Given the description of an element on the screen output the (x, y) to click on. 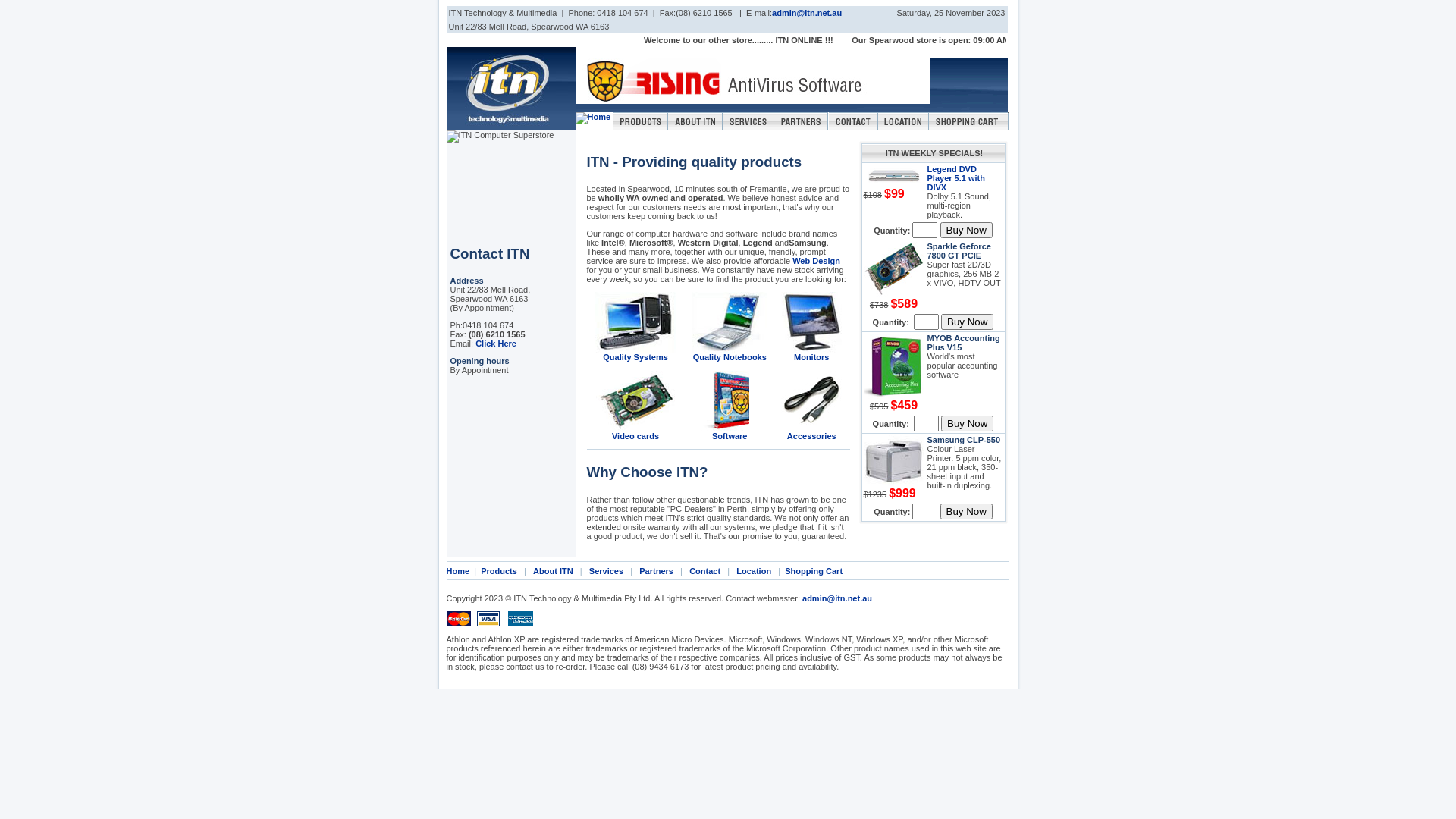
Buy Now Element type: text (967, 423)
Legend DVD Player 5.1 with DIVX Element type: text (955, 177)
Buy Now Element type: text (967, 321)
Accessories Element type: text (811, 405)
Services Element type: text (606, 570)
Video cards Element type: text (635, 405)
Software Element type: text (729, 405)
About ITN Element type: text (553, 570)
Click Here Element type: text (495, 343)
admin@itn.net.au Element type: text (837, 597)
Location Element type: text (753, 570)
Products Element type: text (498, 570)
Quality Systems Element type: text (635, 326)
Monitors Element type: text (811, 326)
admin@itn.net.au Element type: text (806, 12)
Web Design Element type: text (816, 260)
Quality Notebooks Element type: text (729, 326)
Partners Element type: text (656, 570)
Buy Now Element type: text (966, 230)
Shopping Cart Element type: text (813, 570)
Buy Now Element type: text (966, 511)
Home Element type: text (457, 570)
Contact Element type: text (704, 570)
